Given the description of an element on the screen output the (x, y) to click on. 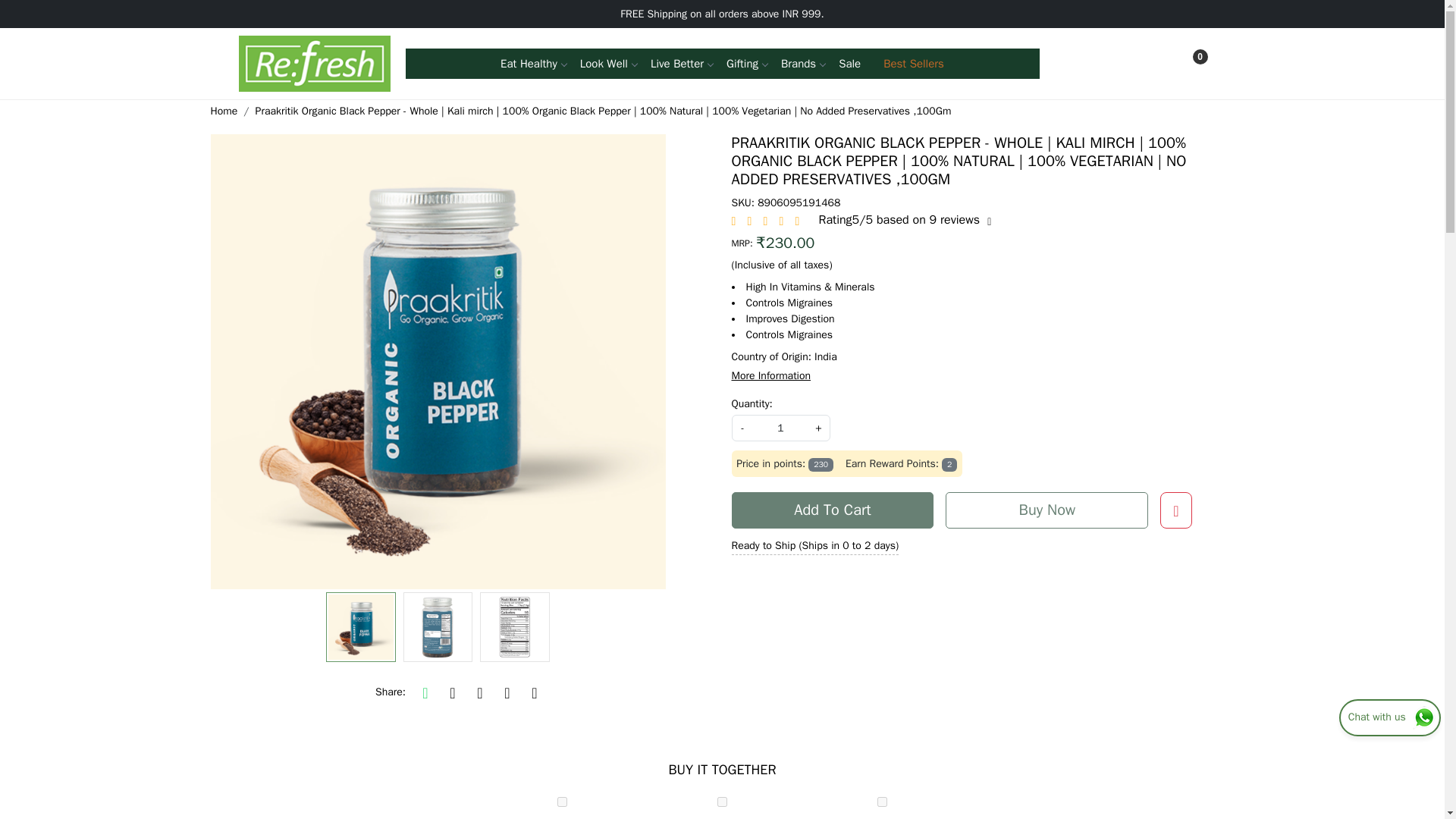
Look Well (604, 63)
1 (779, 427)
Eat Healthy (529, 63)
714369 (881, 801)
Shopping Bag (1190, 63)
714368 (721, 801)
714367 (562, 801)
Home (314, 63)
